Given the description of an element on the screen output the (x, y) to click on. 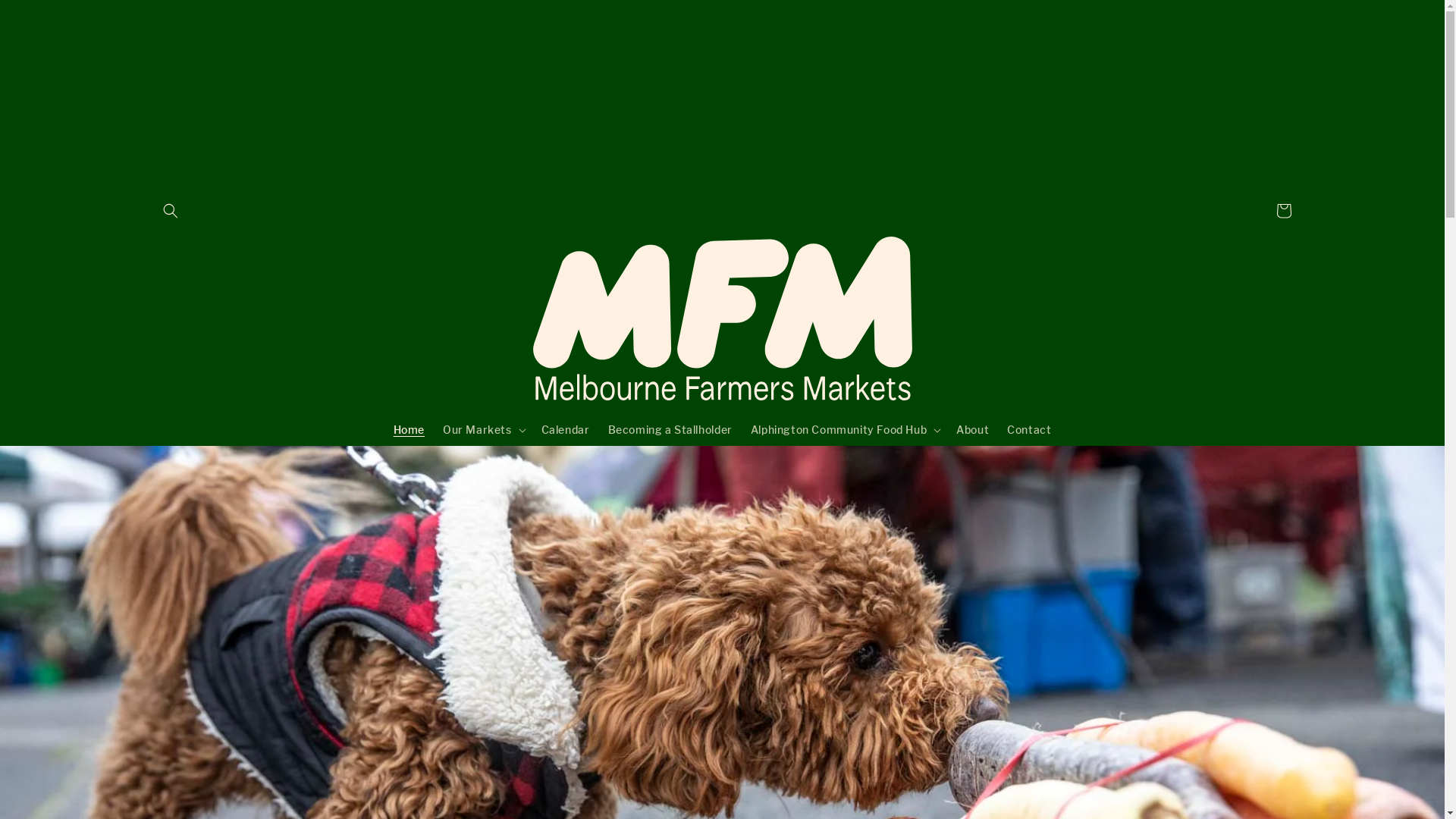
Calendar Element type: text (565, 429)
Becoming a Stallholder Element type: text (670, 429)
Home Element type: text (408, 429)
Cart Element type: text (1282, 210)
About Element type: text (972, 429)
Contact Element type: text (1028, 429)
